Given the description of an element on the screen output the (x, y) to click on. 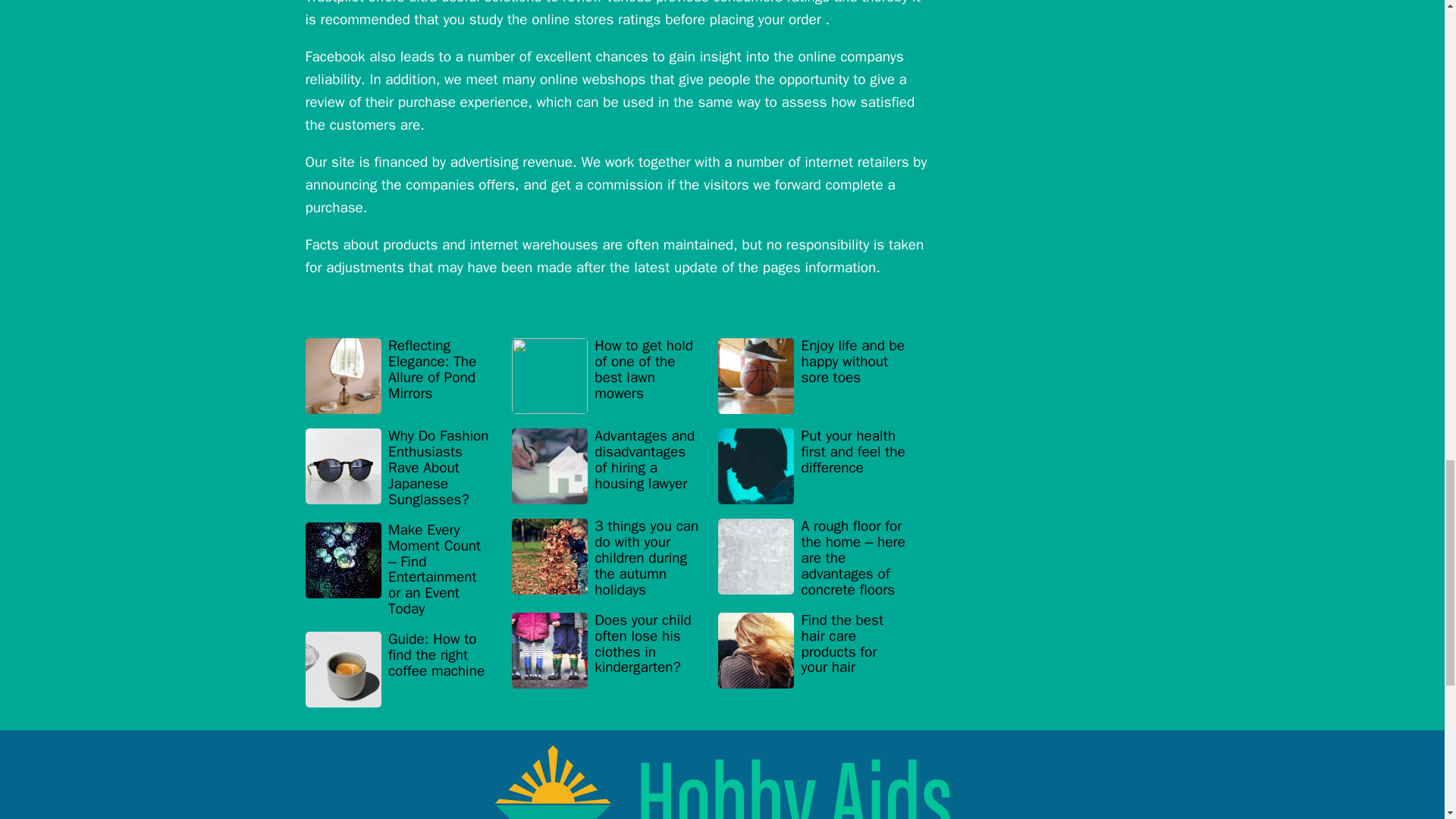
Why Do Fashion Enthusiasts Rave About Japanese Sunglasses? (398, 468)
Does your child often lose his clothes in kindergarten? (606, 650)
Put your health first and feel the difference (811, 466)
Enjoy life and be happy without sore toes (811, 376)
Reflecting Elegance: The Allure of Pond Mirrors (398, 376)
How to get hold of one of the best lawn mowers (606, 376)
Advantages and disadvantages of hiring a housing lawyer (606, 466)
Guide: How to find the right coffee machine (398, 669)
Find the best hair care products for your hair (811, 650)
